Given the description of an element on the screen output the (x, y) to click on. 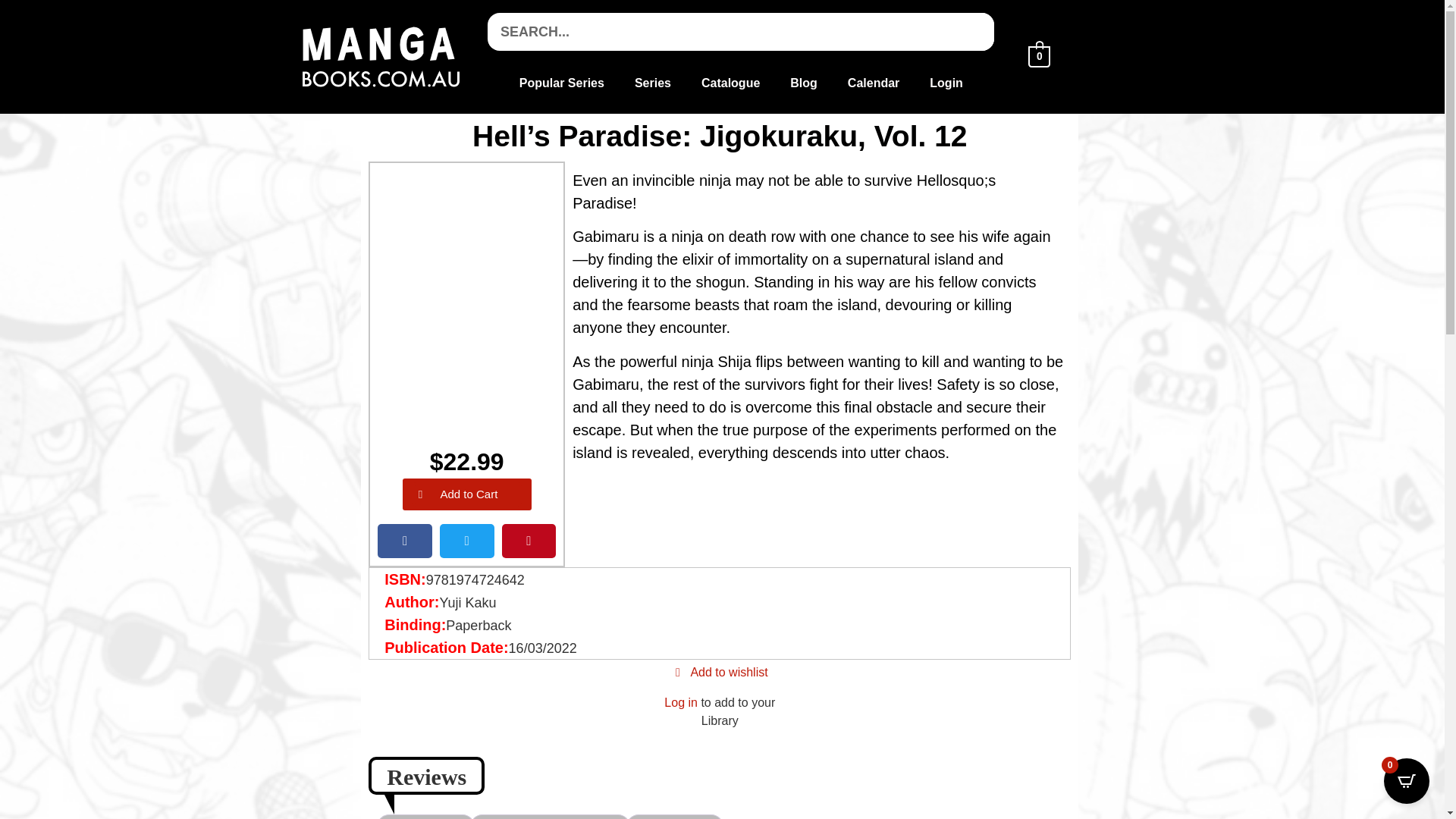
Catalogue (729, 83)
View your shopping cart (1038, 55)
Popular Series (561, 83)
Series (652, 83)
Blog (803, 83)
